Given the description of an element on the screen output the (x, y) to click on. 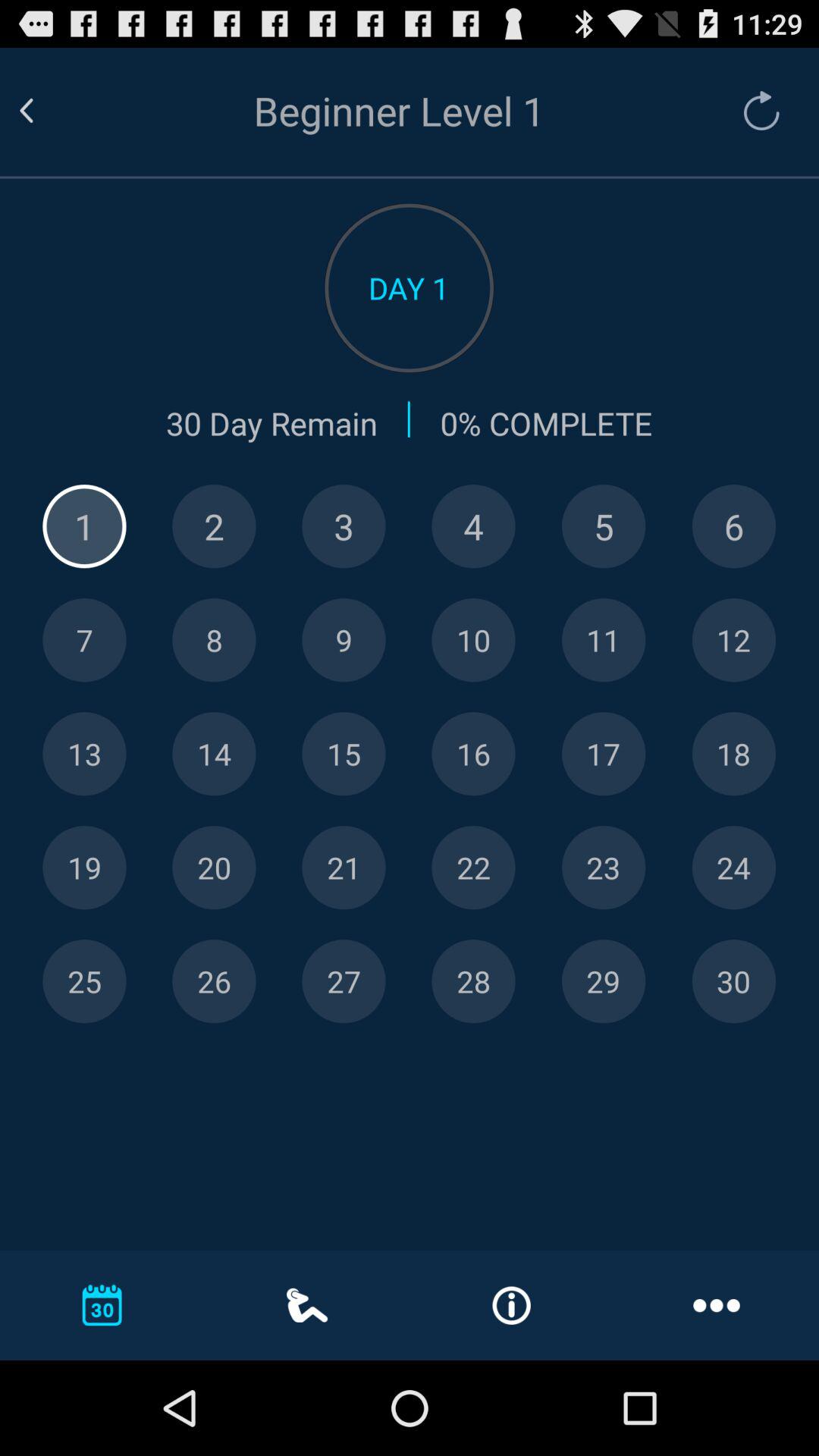
level 15 (343, 753)
